Given the description of an element on the screen output the (x, y) to click on. 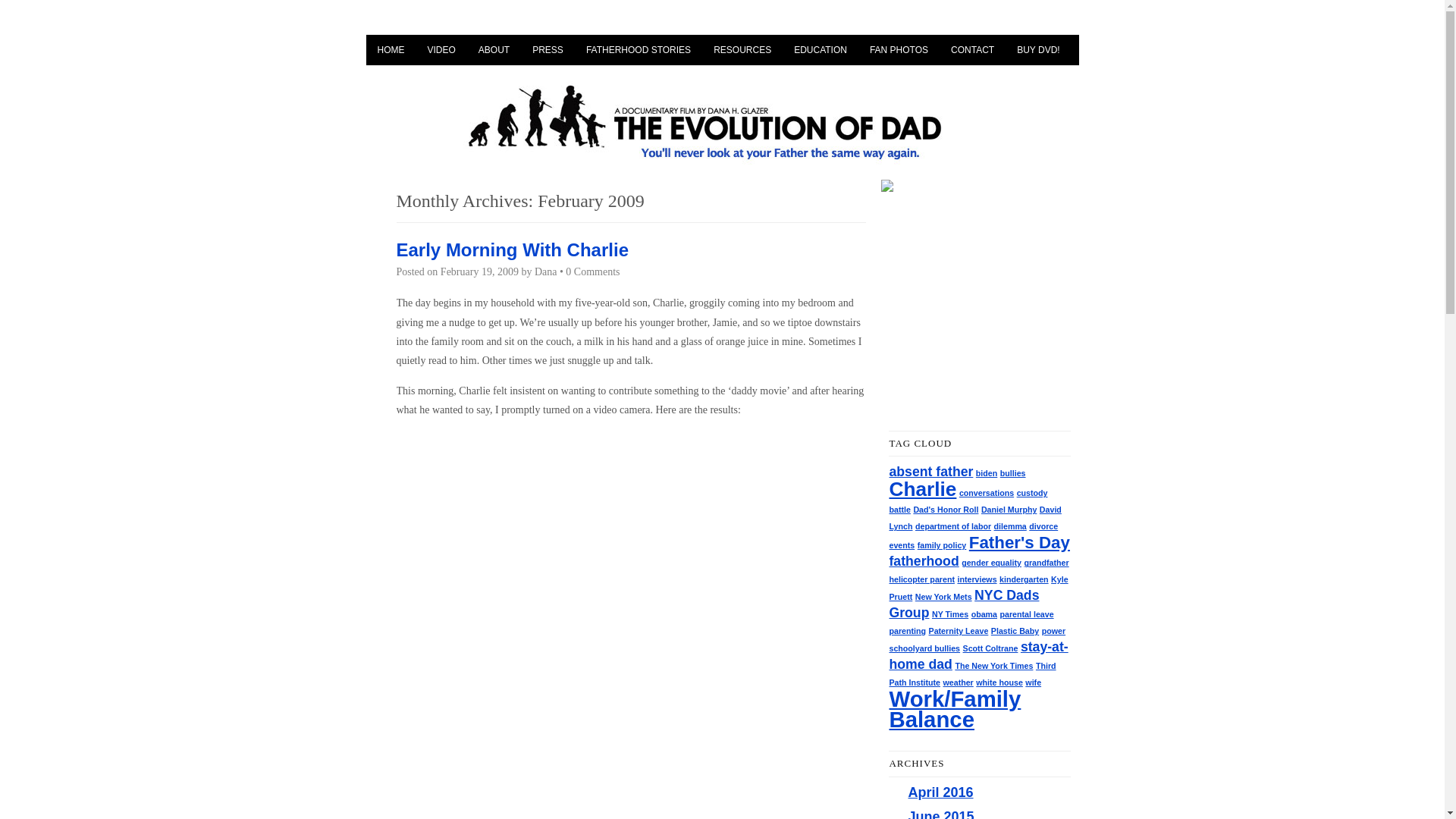
Charlie (922, 488)
Dana (545, 271)
0 Comments (593, 271)
VIDEO (439, 50)
Early Morning With Charlie (511, 249)
ABOUT (494, 50)
BUY DVD! (1038, 50)
HOME (389, 50)
RESOURCES (742, 50)
View all posts by Dana (545, 271)
bullies (1013, 472)
biden (986, 472)
absent father (930, 471)
FAN PHOTOS (899, 50)
CONTACT (972, 50)
